Given the description of an element on the screen output the (x, y) to click on. 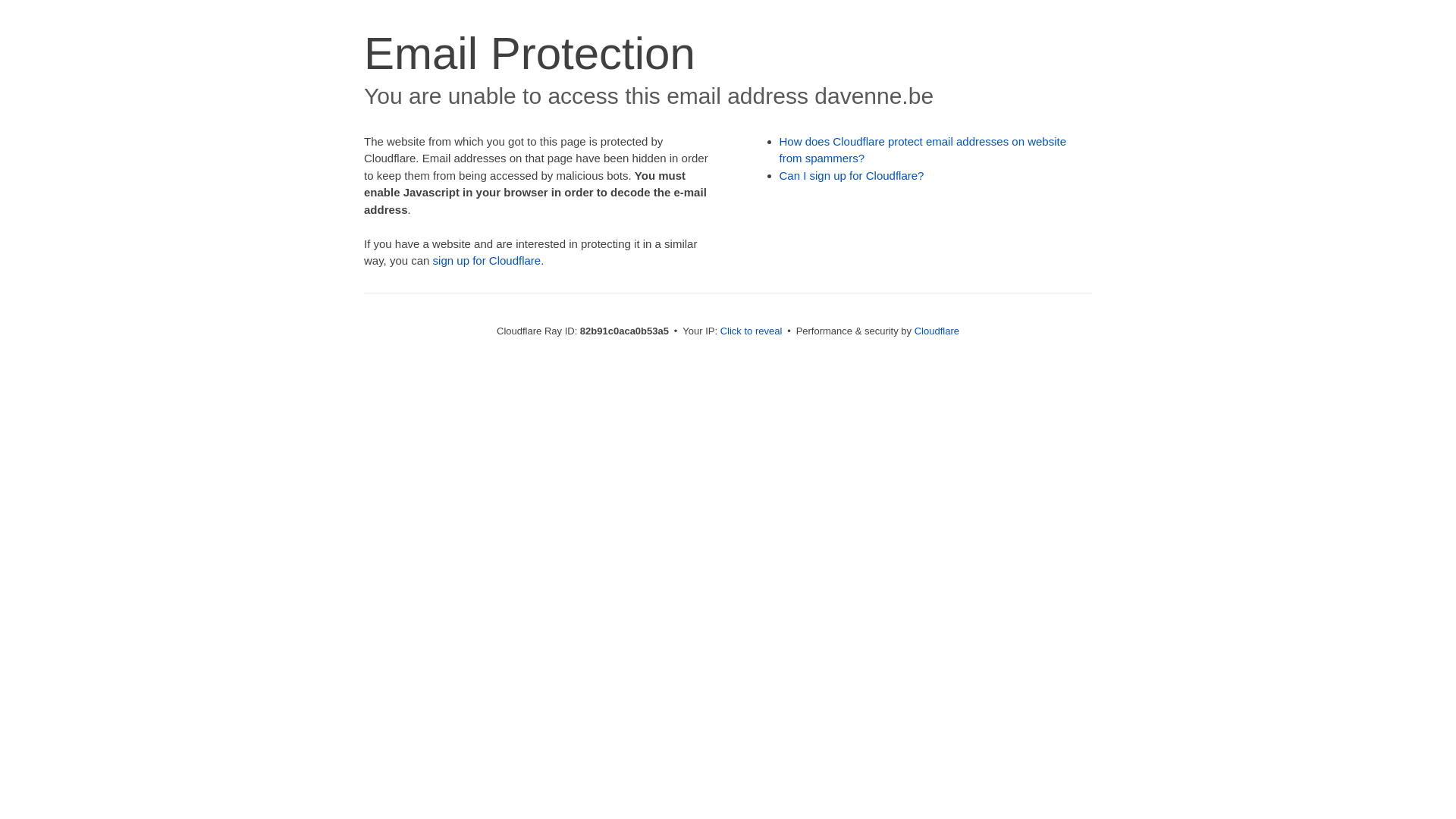
Can I sign up for Cloudflare? Element type: text (851, 175)
Click to reveal Element type: text (751, 330)
sign up for Cloudflare Element type: text (487, 260)
Cloudflare Element type: text (936, 330)
